Given the description of an element on the screen output the (x, y) to click on. 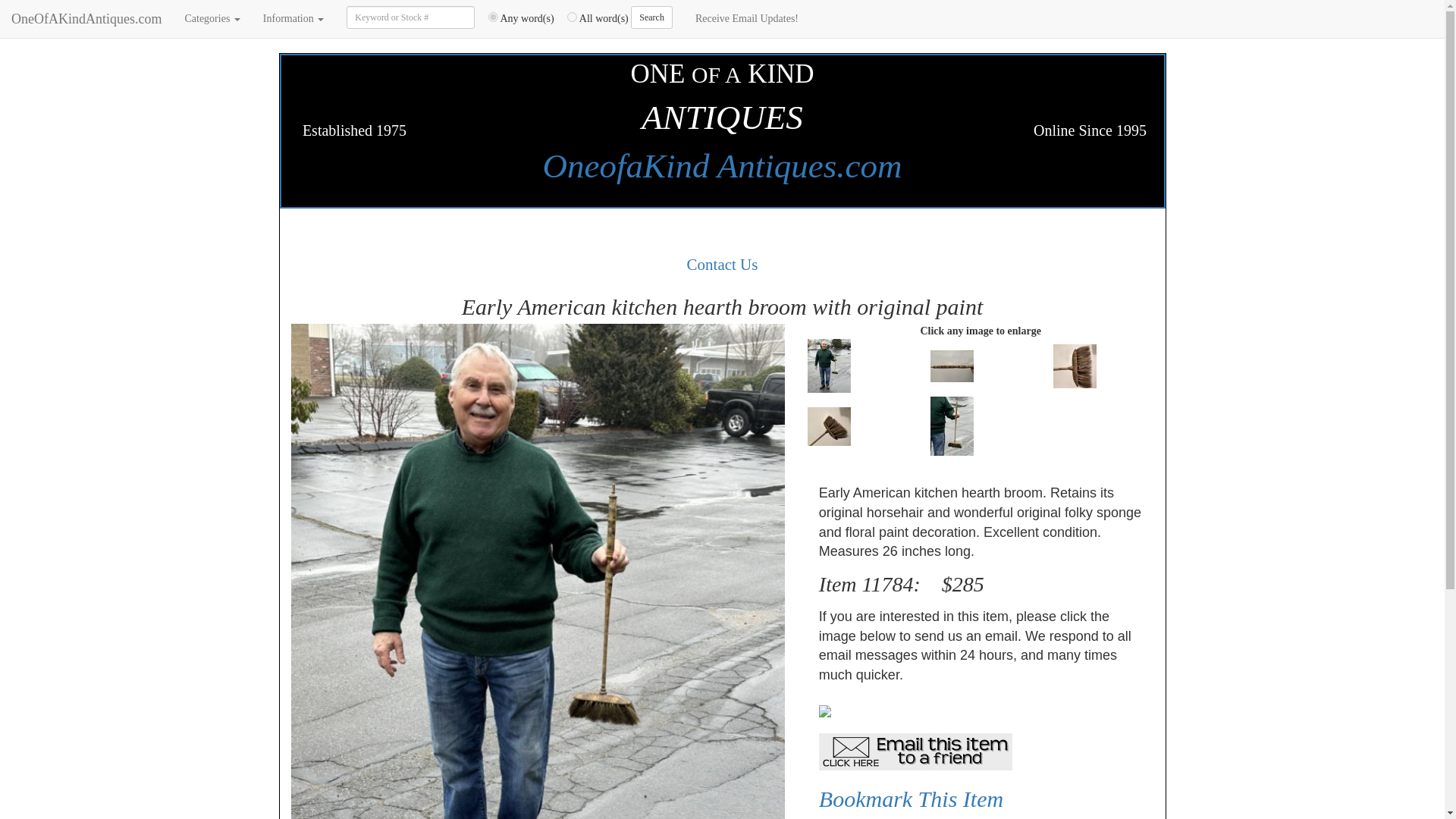
OneOfAKindAntiques.com (86, 18)
Categories (211, 18)
all (571, 17)
any (492, 17)
